Given the description of an element on the screen output the (x, y) to click on. 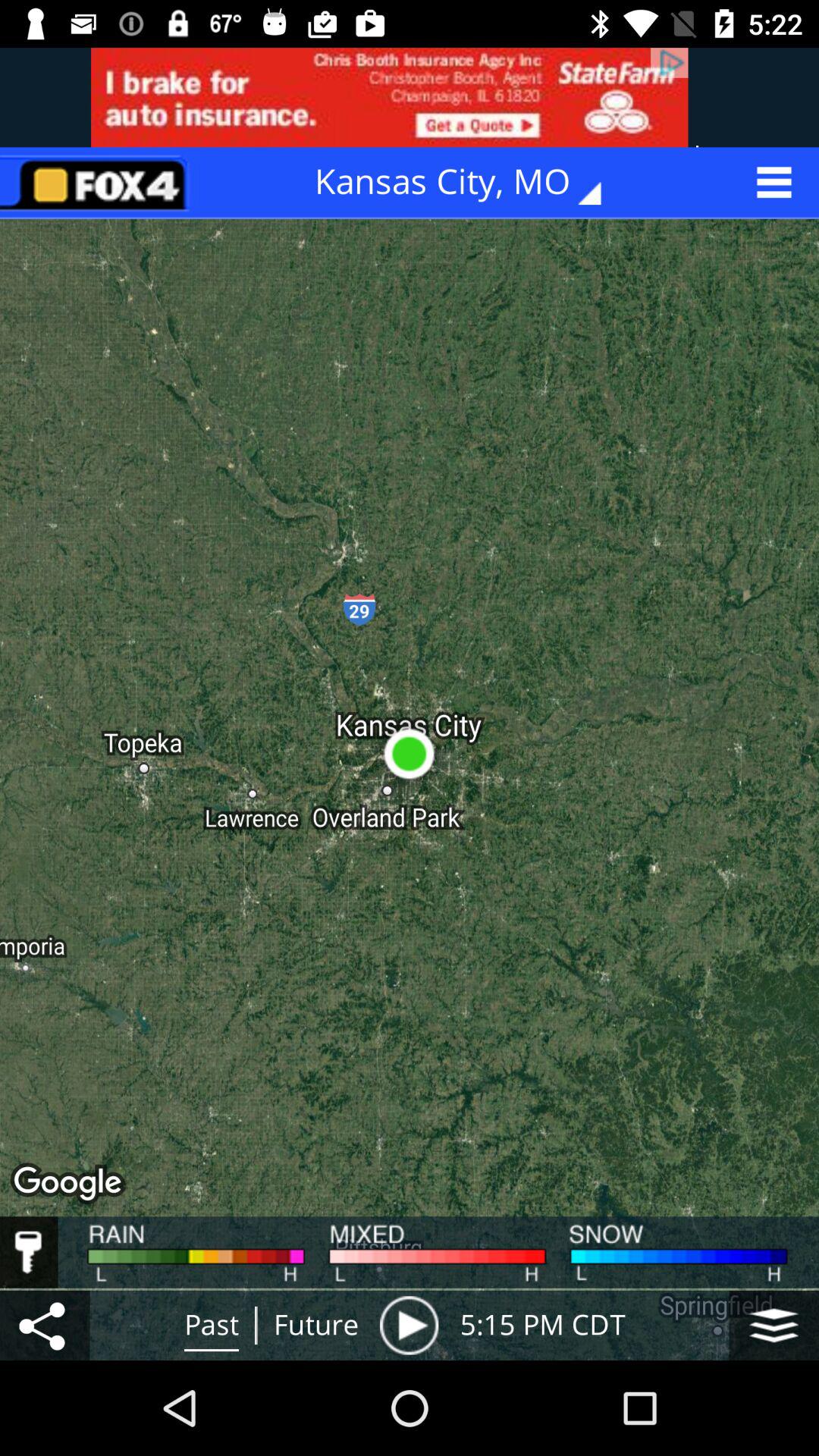
share (44, 1325)
